Given the description of an element on the screen output the (x, y) to click on. 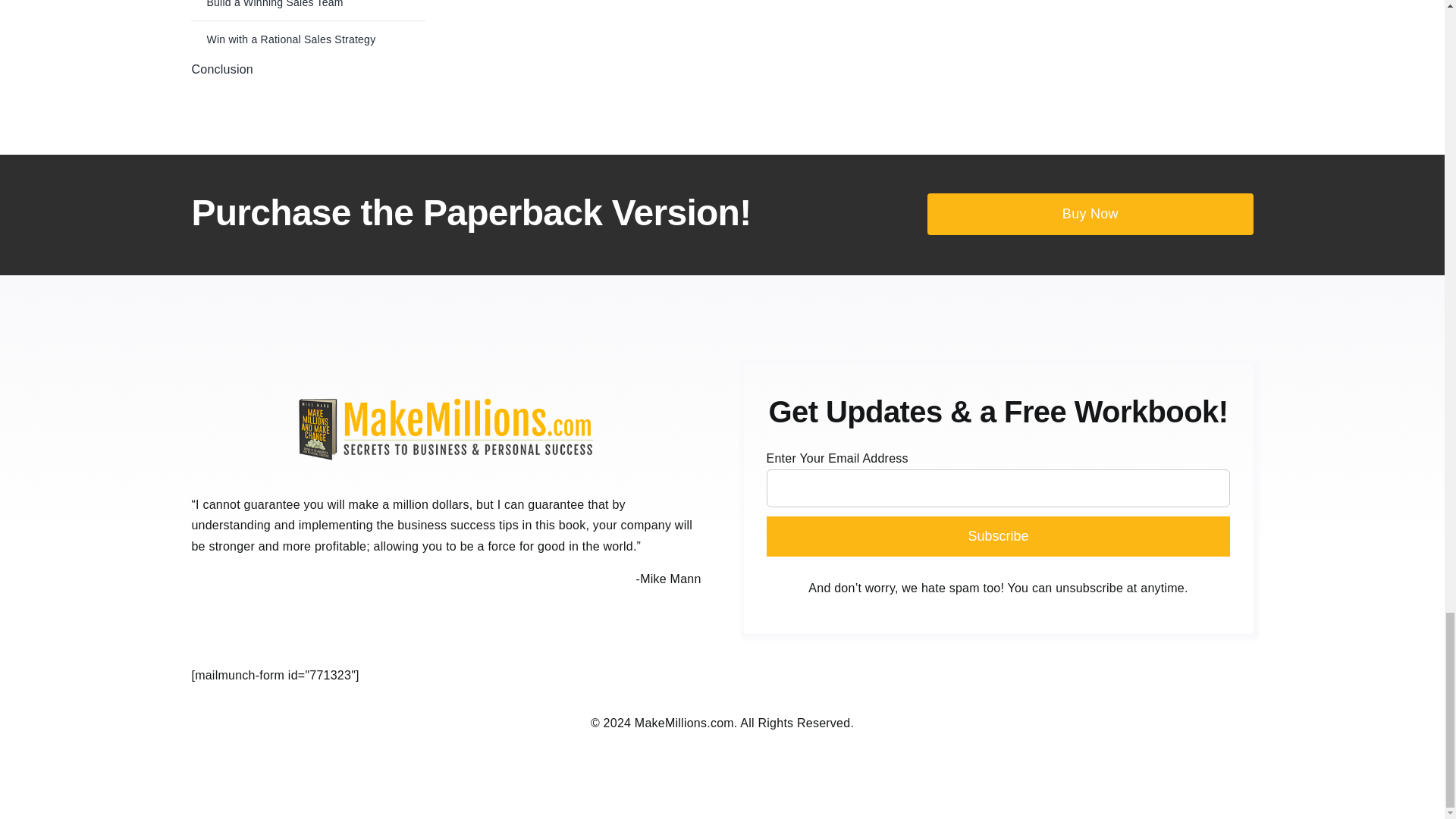
makemillions-logo-website-edited (445, 427)
